Given the description of an element on the screen output the (x, y) to click on. 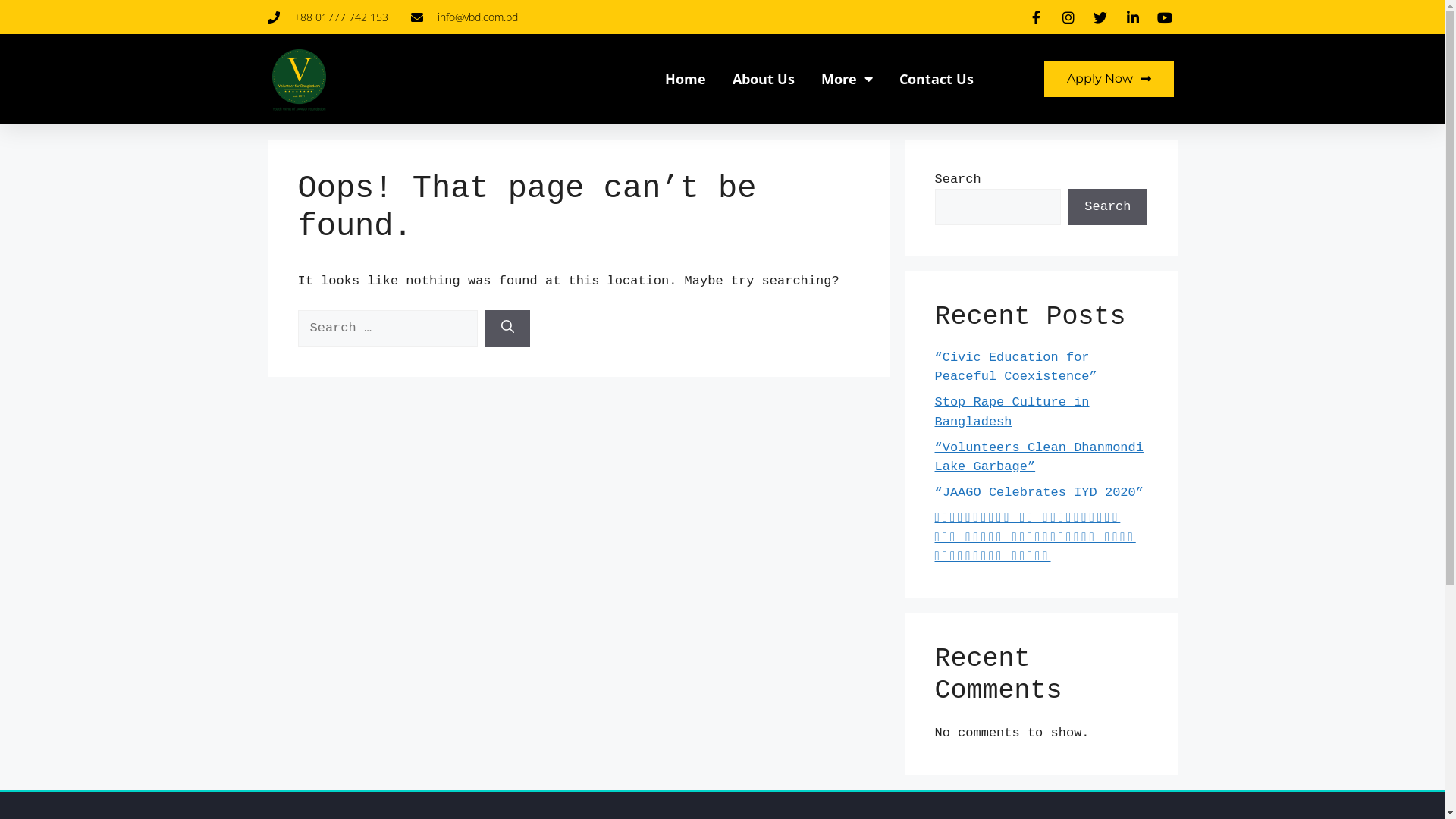
Search for: Element type: hover (386, 328)
Apply Now Element type: text (1108, 79)
Stop Rape Culture in Bangladesh Element type: text (1011, 412)
Home Element type: text (685, 78)
About Us Element type: text (763, 78)
Search Element type: text (1107, 206)
More Element type: text (846, 78)
Contact Us Element type: text (936, 78)
